Given the description of an element on the screen output the (x, y) to click on. 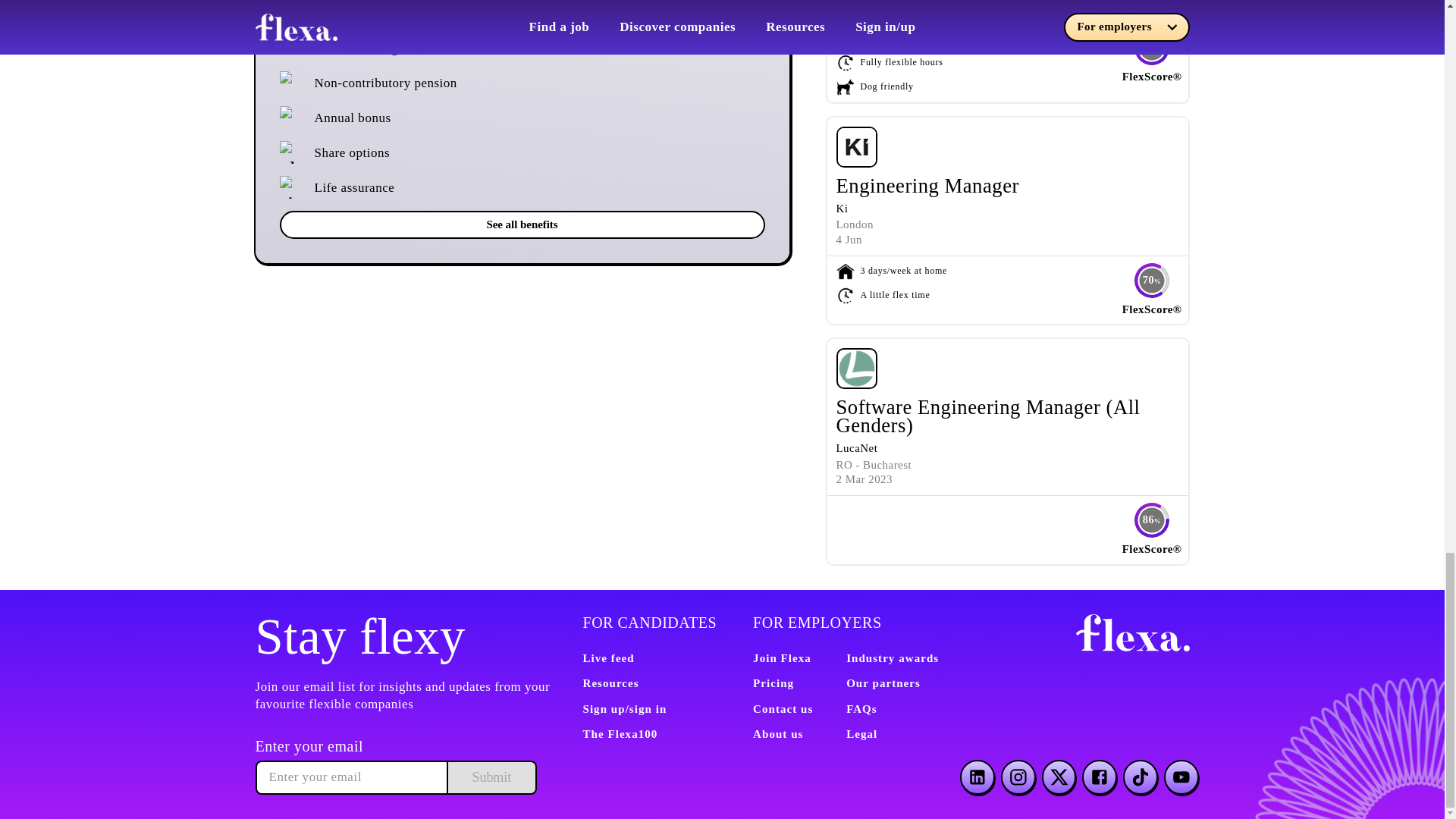
Live feed (607, 657)
About us (777, 734)
See all benefits (521, 224)
LucaNet (856, 448)
Ki (841, 208)
Submit (490, 777)
Pricing (772, 683)
Engineering Manager (926, 185)
Our partners (882, 683)
FAQs (861, 708)
